Given the description of an element on the screen output the (x, y) to click on. 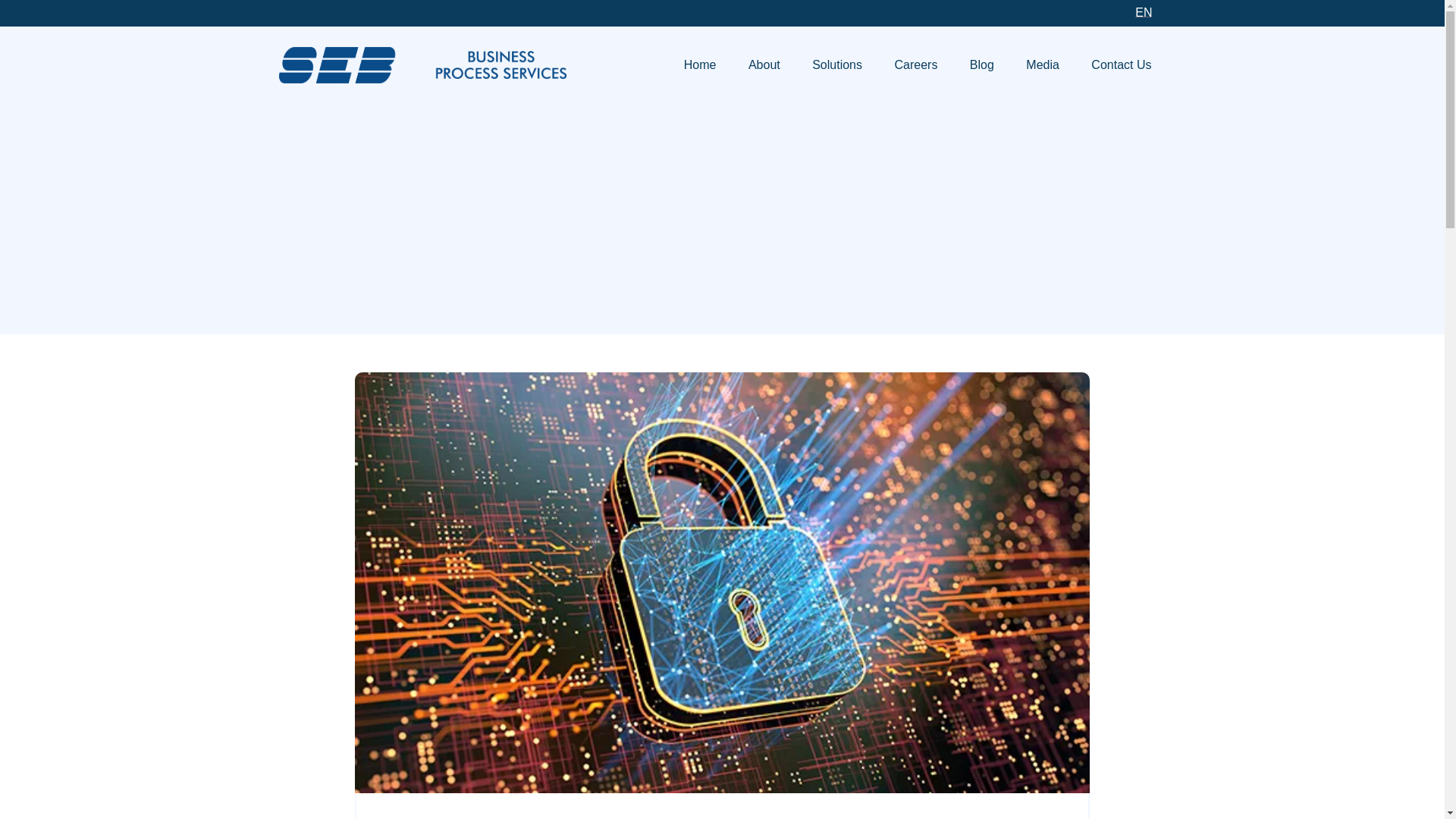
Search (1145, 322)
SEB Admin (423, 63)
Careers (915, 65)
EN (1142, 13)
Contact Us (1121, 65)
Solutions (836, 65)
